Given the description of an element on the screen output the (x, y) to click on. 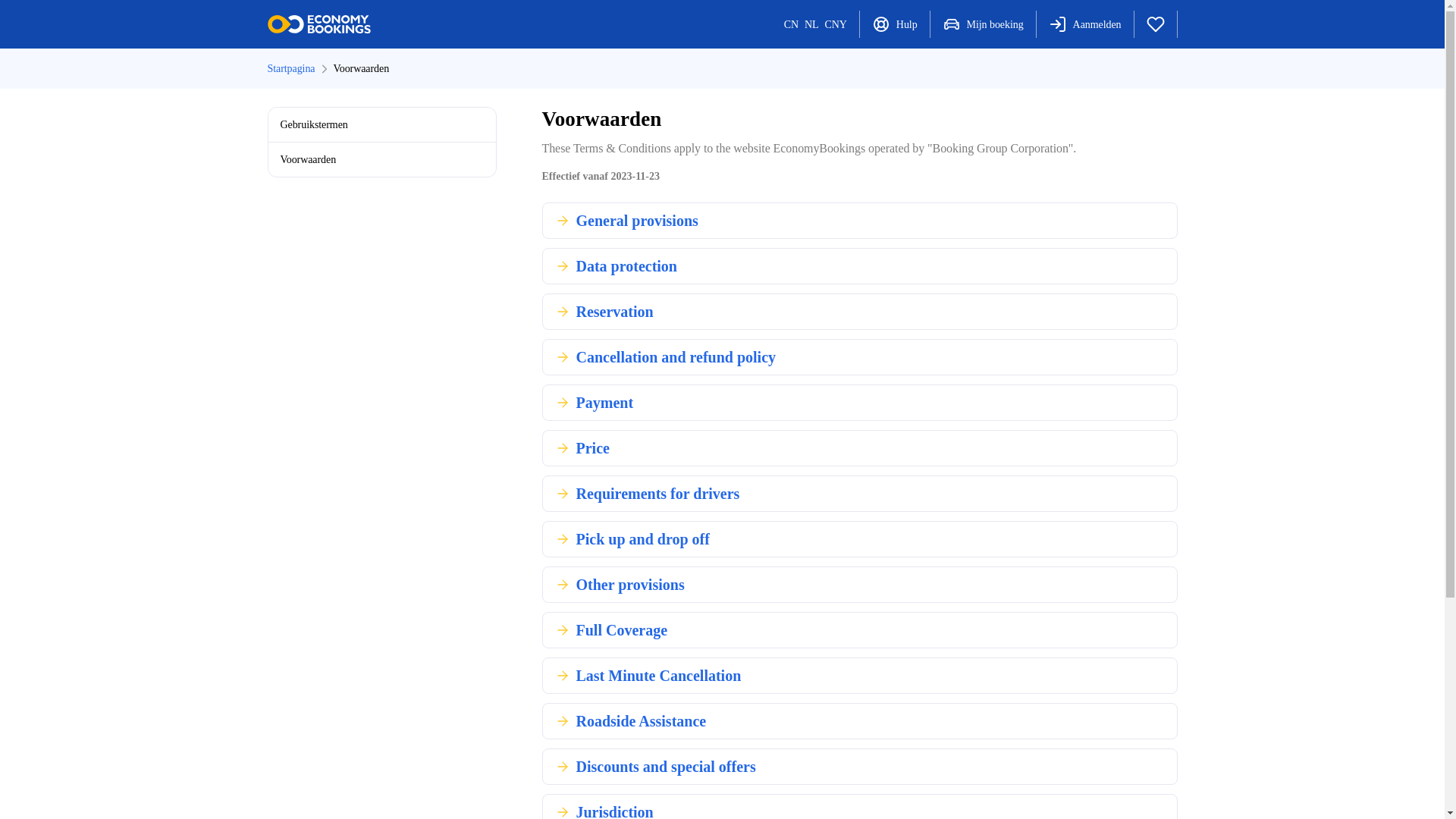
Aanmelden (1084, 24)
Startpagina (290, 68)
Mijn boeking (982, 24)
CNNLCNY (815, 24)
Hulp (894, 24)
